Given the description of an element on the screen output the (x, y) to click on. 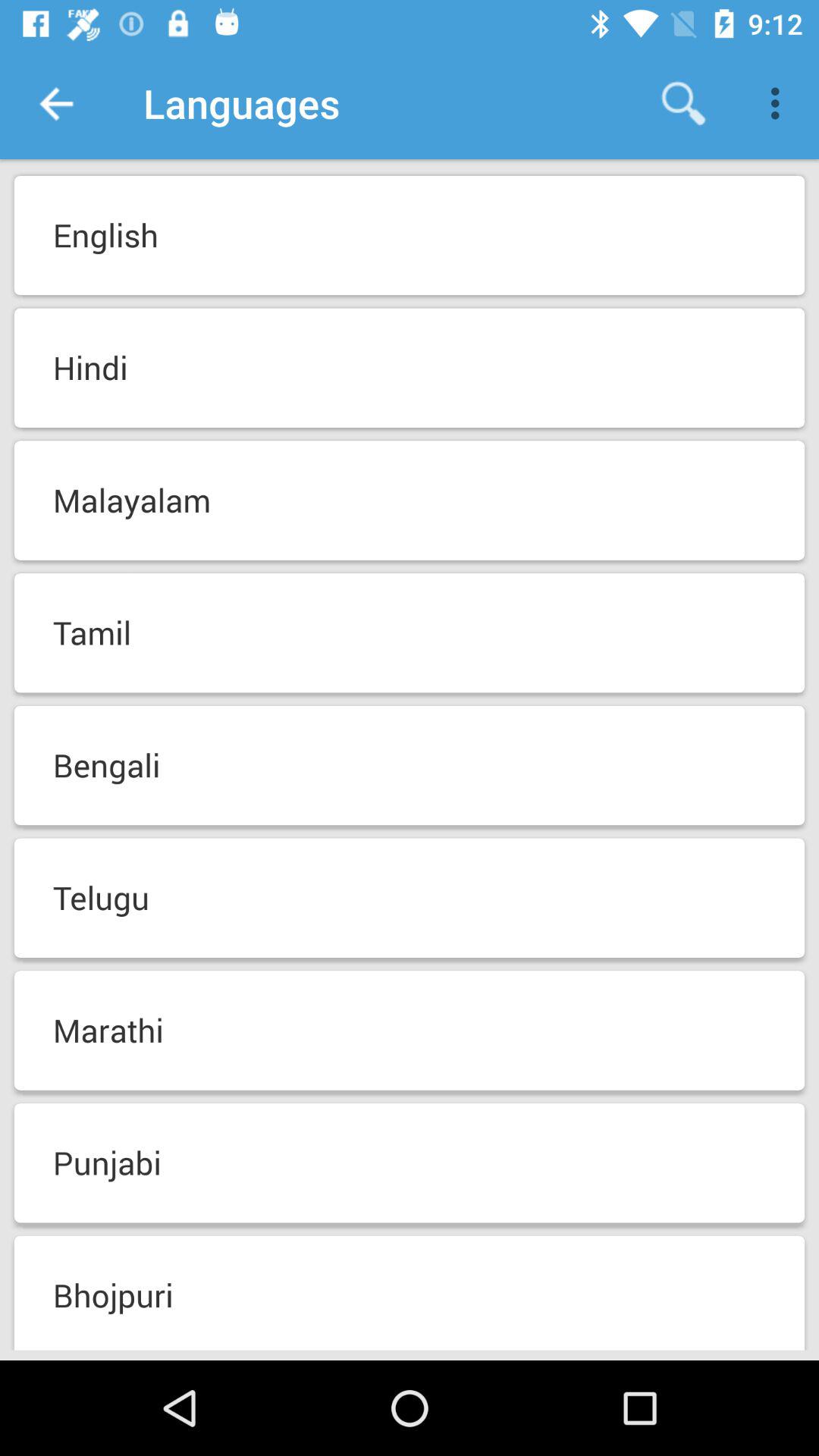
turn off icon above english (55, 103)
